Given the description of an element on the screen output the (x, y) to click on. 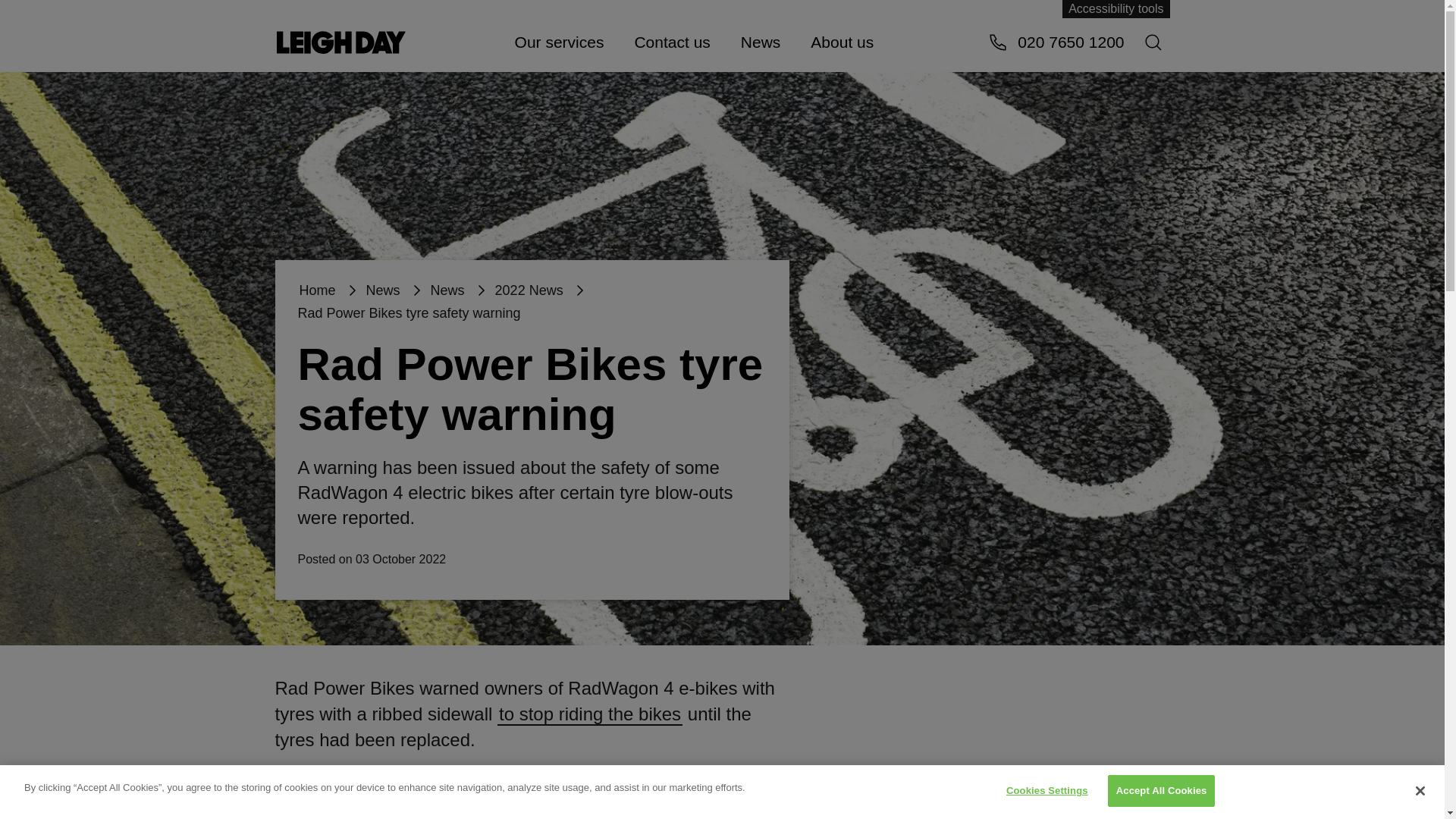
Government website (400, 778)
Accessibility tools (1115, 9)
Our services (558, 41)
Accessibility tools (1115, 9)
Bicycle Retailer (589, 714)
